Given the description of an element on the screen output the (x, y) to click on. 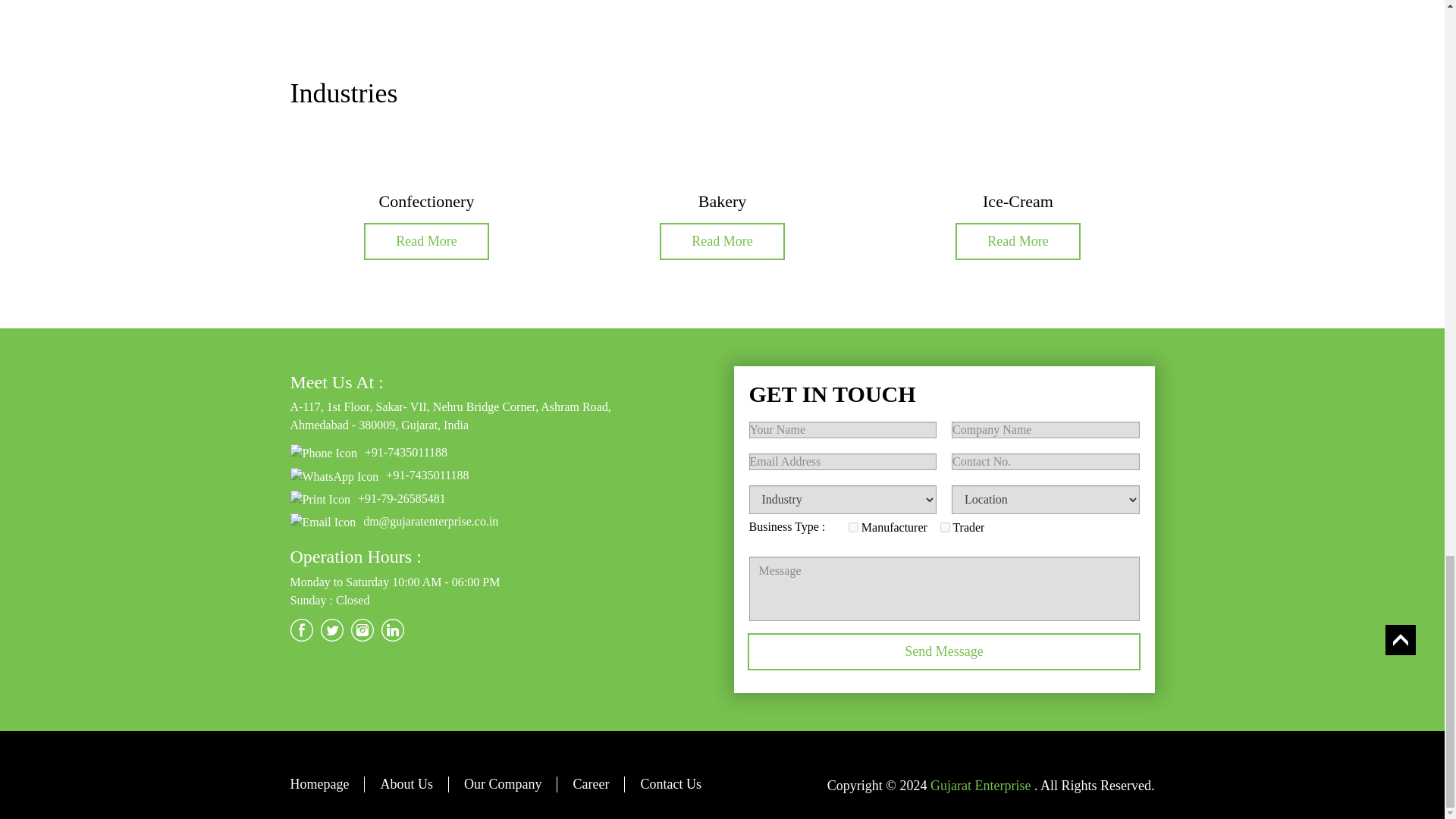
Send Message (944, 651)
Manufacturer (853, 527)
Bakery (722, 200)
Read More (721, 241)
Read More (425, 241)
Confectionery (426, 200)
Trader (945, 527)
